Given the description of an element on the screen output the (x, y) to click on. 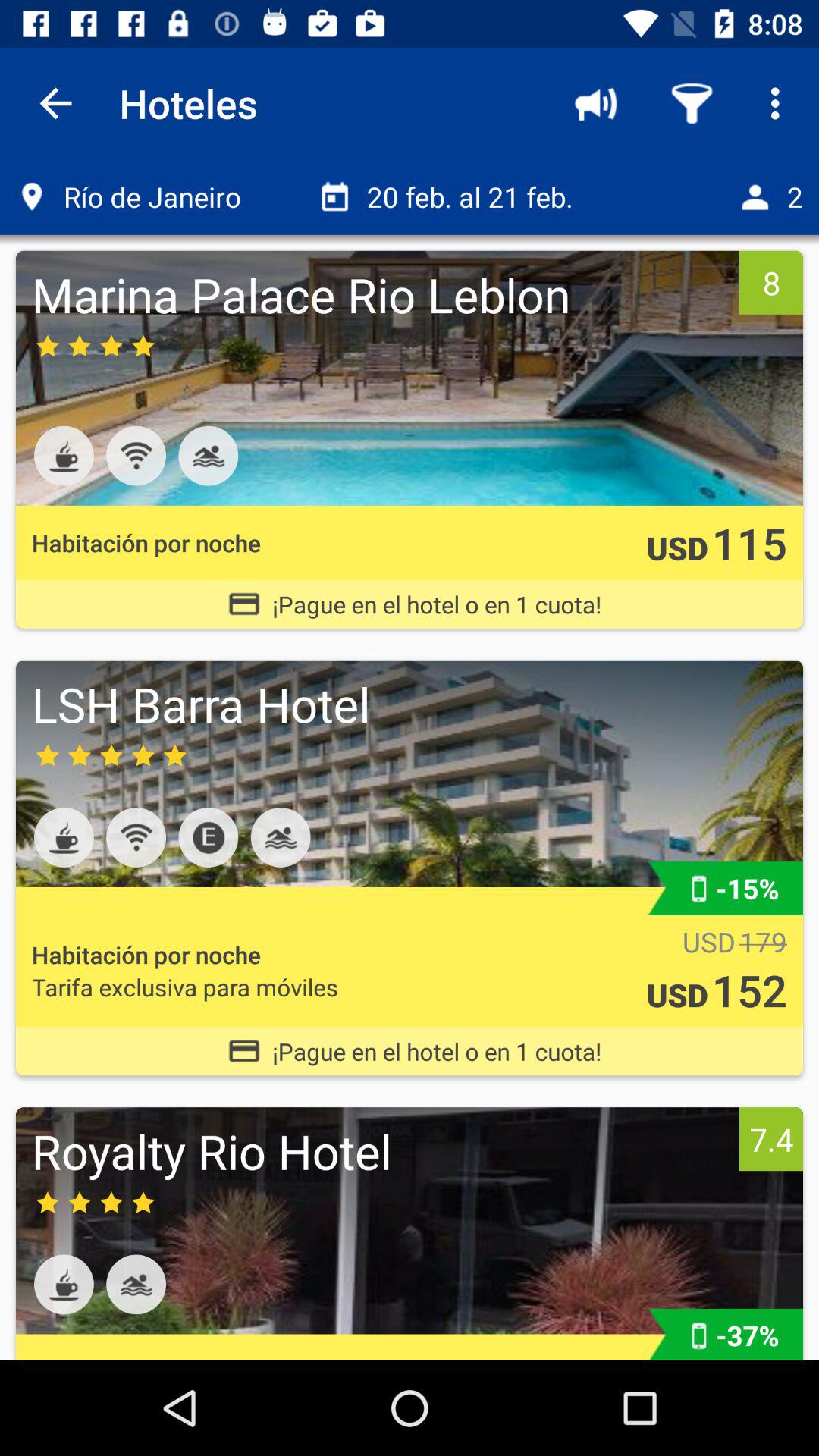
select the icon next to the usd (763, 941)
